Given the description of an element on the screen output the (x, y) to click on. 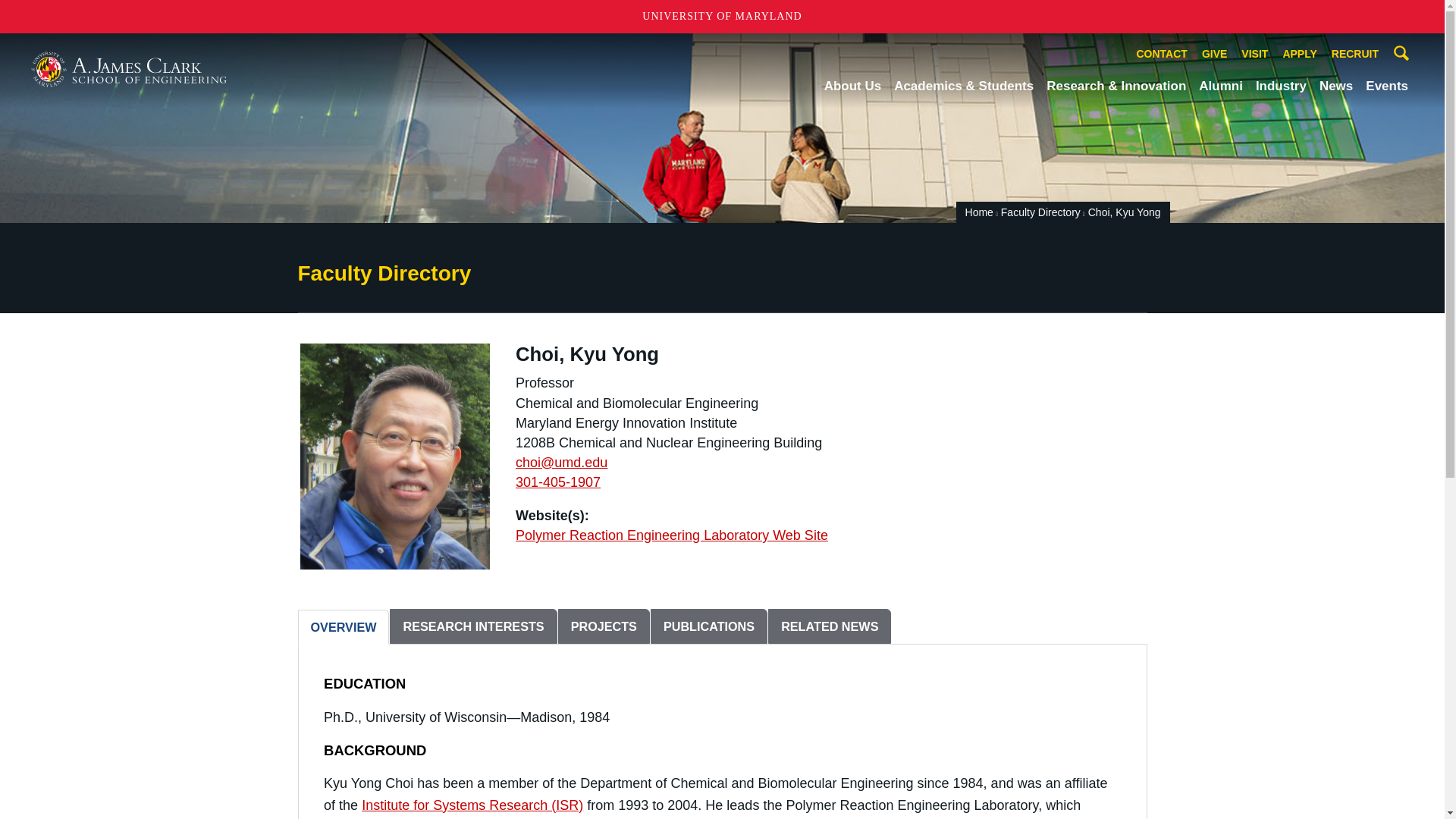
A. James Clark School of Engineering (128, 69)
APPLY (1299, 53)
About Us (852, 86)
VISIT (1254, 53)
RECRUIT (1355, 53)
GIVE (1213, 53)
UNIVERSITY OF MARYLAND (722, 16)
CONTACT (1161, 53)
